Given the description of an element on the screen output the (x, y) to click on. 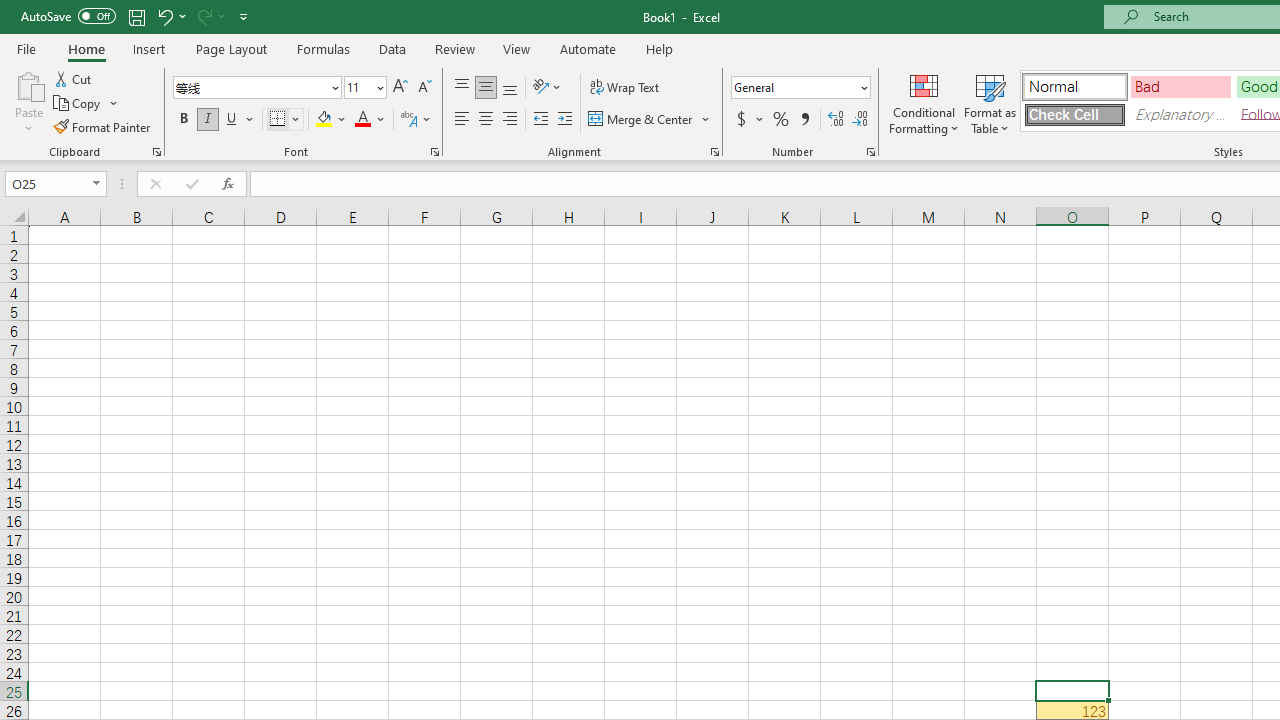
Office Clipboard... (156, 151)
Middle Align (485, 87)
Borders (285, 119)
Font Size (365, 87)
Show Phonetic Field (408, 119)
Center (485, 119)
Comma Style (804, 119)
Decrease Decimal (859, 119)
Font Color (370, 119)
Font (250, 87)
